Given the description of an element on the screen output the (x, y) to click on. 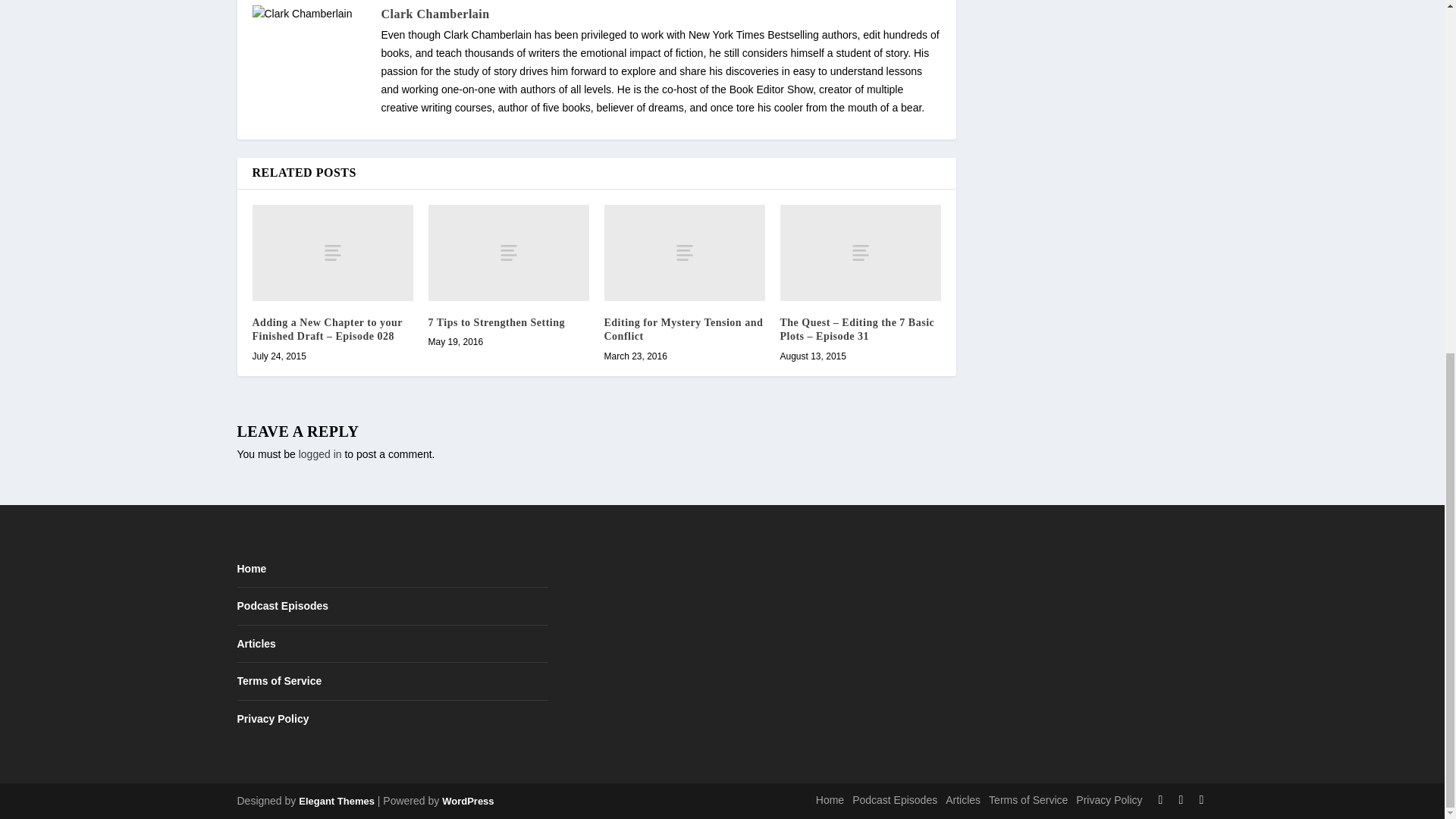
Elegant Themes (336, 800)
logged in (320, 453)
Editing for Mystery Tension and Conflict (683, 329)
Terms of Service (278, 680)
7 Tips to Strengthen Setting (508, 252)
Podcast Episodes (282, 605)
Home (250, 568)
View all posts by Clark Chamberlain (434, 13)
Privacy Policy (271, 718)
Editing for Mystery Tension and Conflict (684, 252)
7 Tips to Strengthen Setting (496, 322)
Clark Chamberlain (434, 13)
Articles (255, 644)
